Given the description of an element on the screen output the (x, y) to click on. 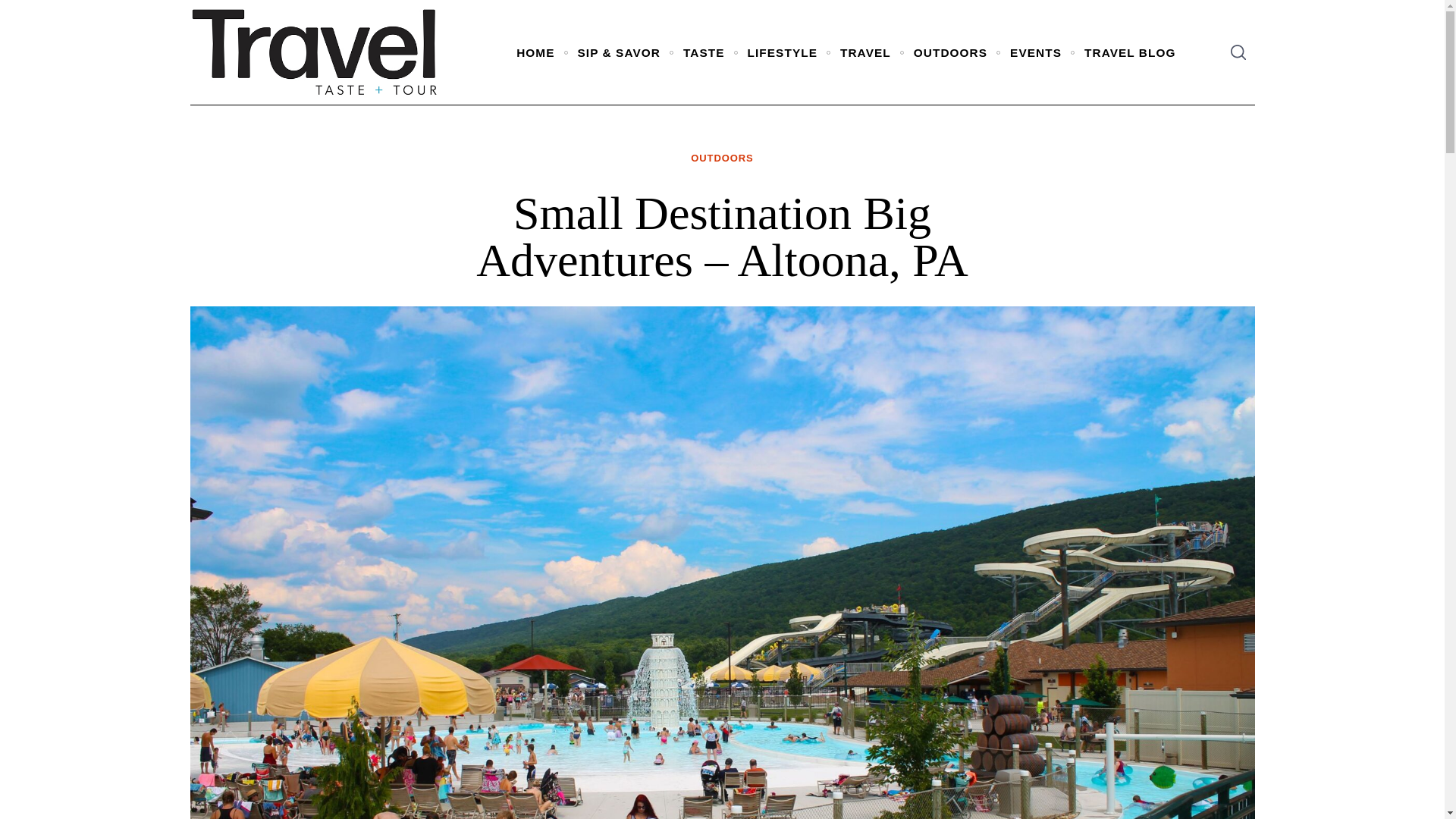
LIFESTYLE (782, 51)
OUTDOORS (721, 158)
TRAVEL (865, 51)
TASTE (703, 51)
TRAVEL BLOG (1129, 51)
EVENTS (1035, 51)
HOME (535, 51)
OUTDOORS (950, 51)
